Given the description of an element on the screen output the (x, y) to click on. 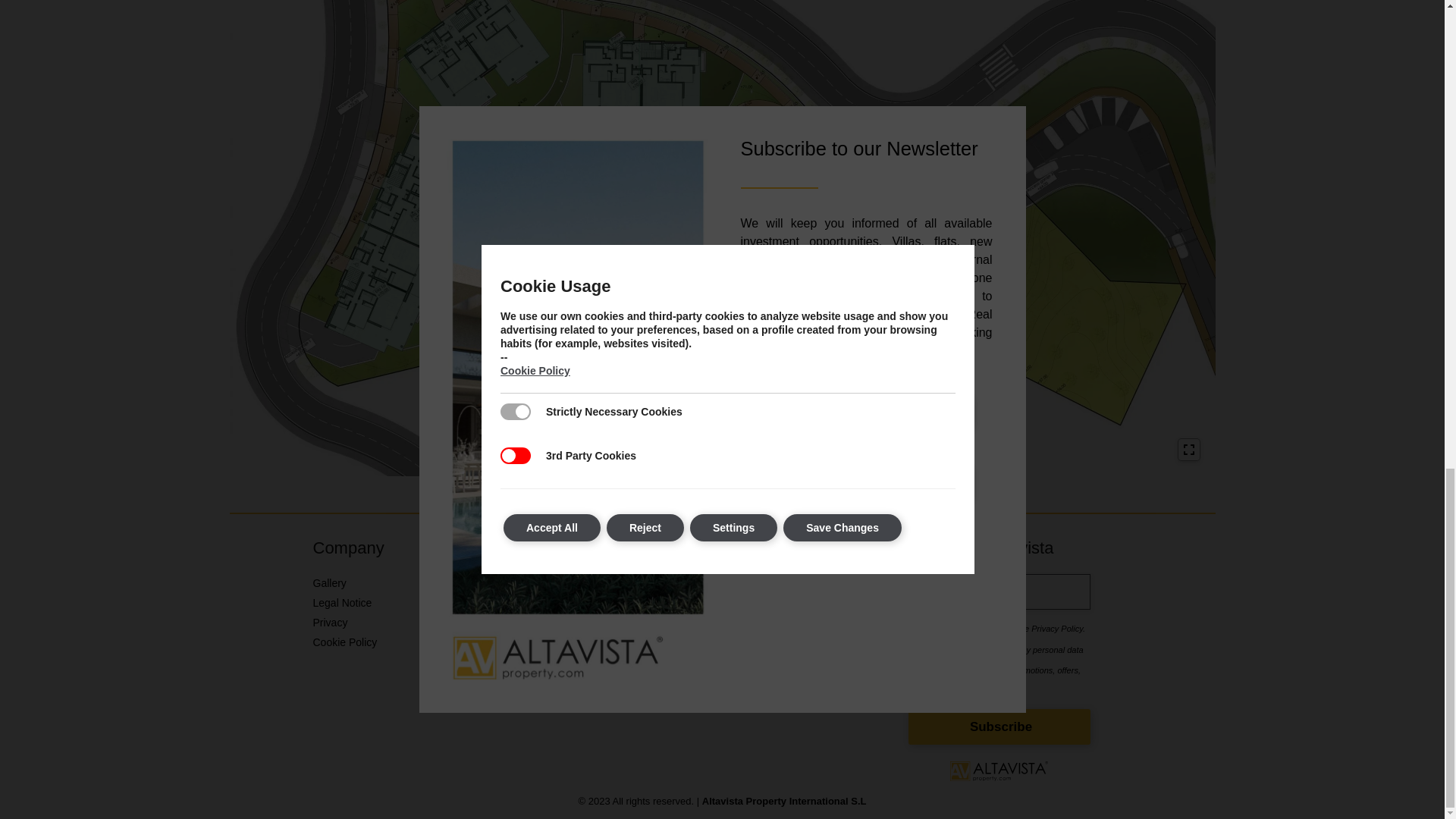
on (913, 626)
